Given the description of an element on the screen output the (x, y) to click on. 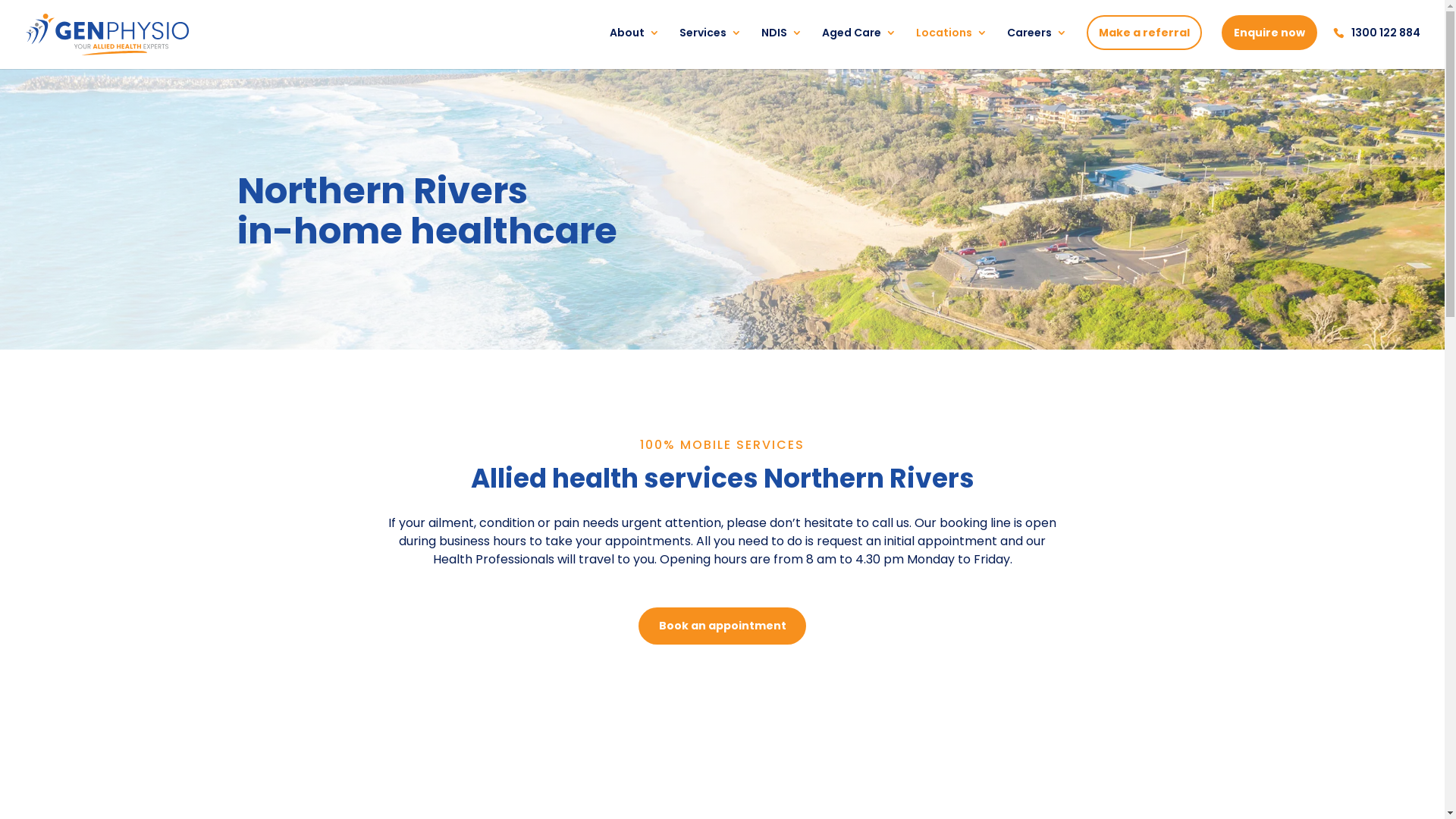
Locations Element type: text (951, 47)
Enquire now Element type: text (1269, 32)
1300 122 884 Element type: text (1378, 48)
Careers Element type: text (1036, 47)
About Element type: text (634, 47)
NDIS Element type: text (781, 47)
Aged Care Element type: text (859, 47)
Services Element type: text (710, 47)
Make a referral Element type: text (1143, 32)
Book an appointment Element type: text (722, 625)
